Given the description of an element on the screen output the (x, y) to click on. 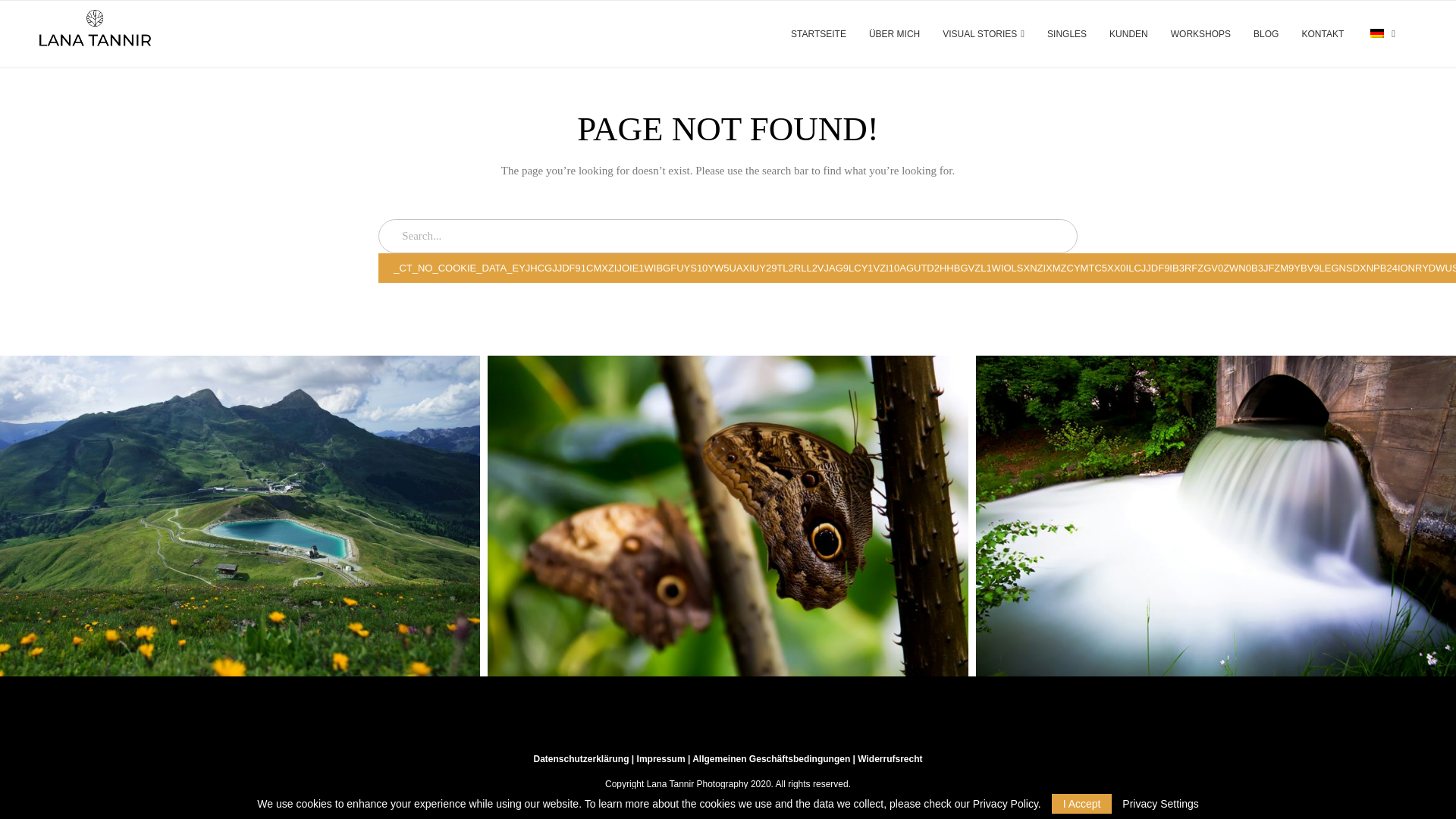
KUNDEN (1128, 33)
Widerrufsrecht (889, 758)
BLOG (1265, 33)
VISUAL STORIES (983, 33)
SINGLES (1066, 33)
STARTSEITE (817, 33)
German (1377, 32)
WORKSHOPS (1200, 33)
Impressum (661, 758)
KONTAKT (1322, 33)
